Given the description of an element on the screen output the (x, y) to click on. 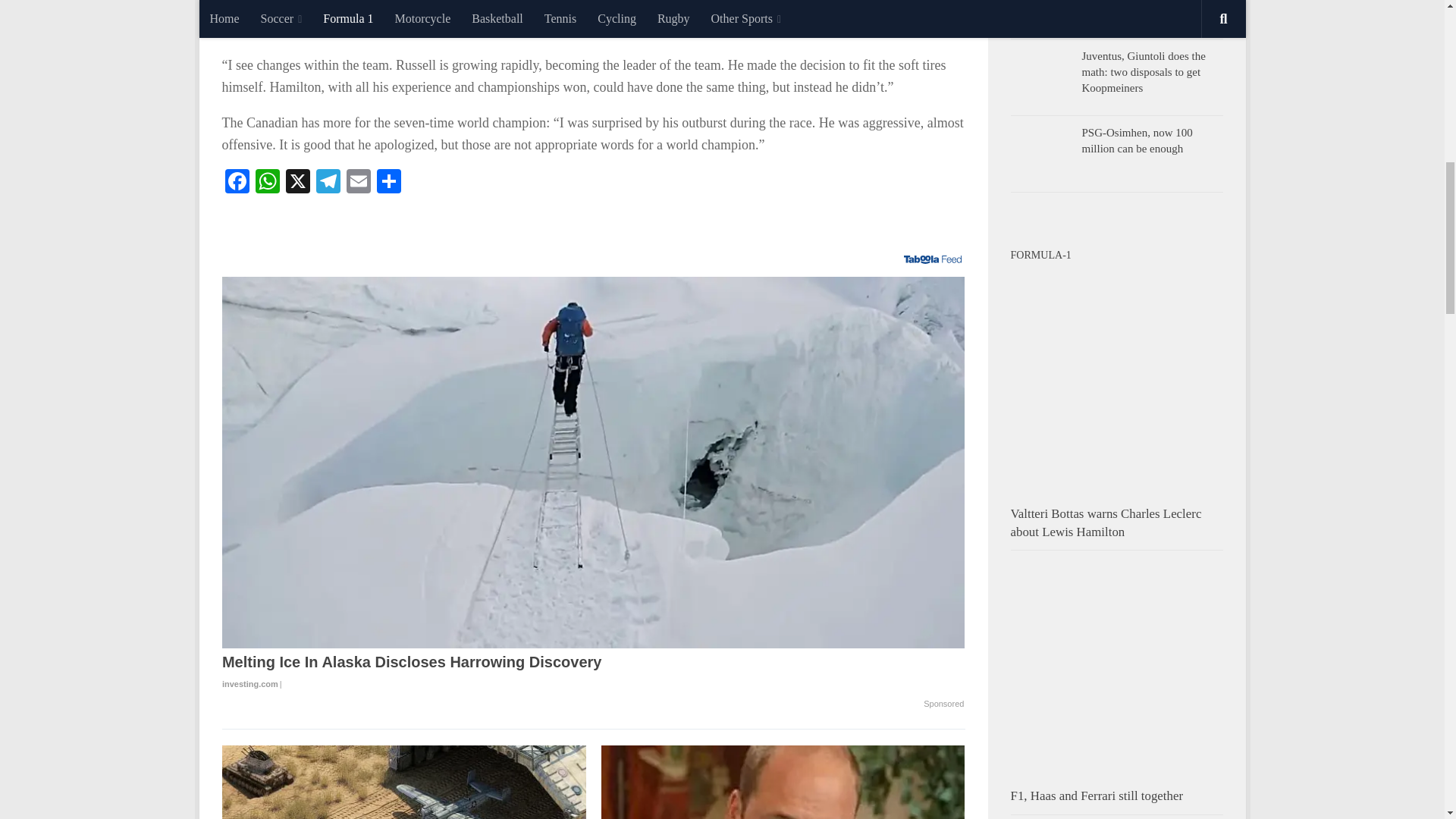
X (297, 182)
Email (357, 182)
Facebook (236, 182)
WhatsApp (266, 182)
Telegram (327, 182)
